Given the description of an element on the screen output the (x, y) to click on. 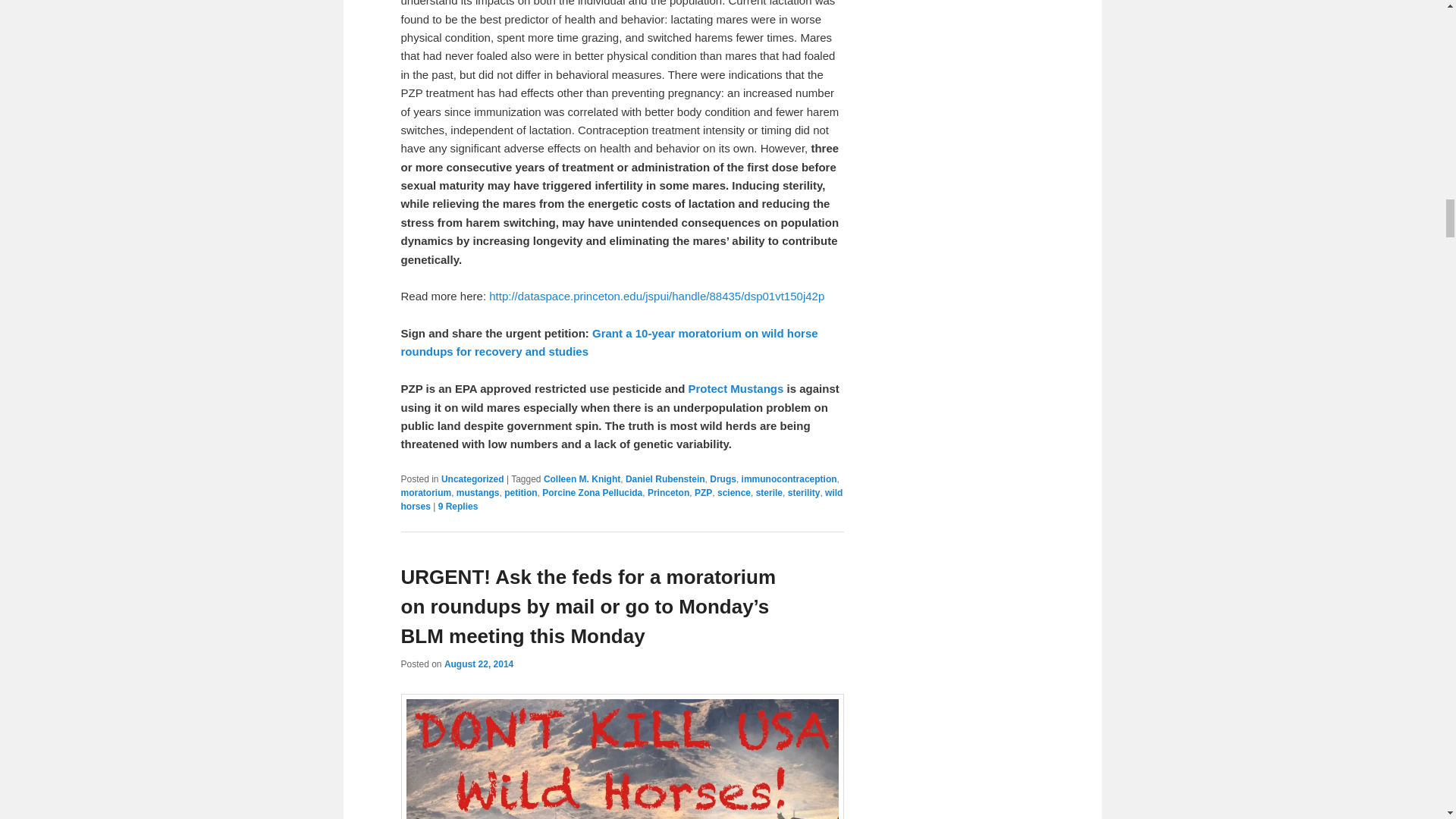
10:11 pm (478, 664)
